Given the description of an element on the screen output the (x, y) to click on. 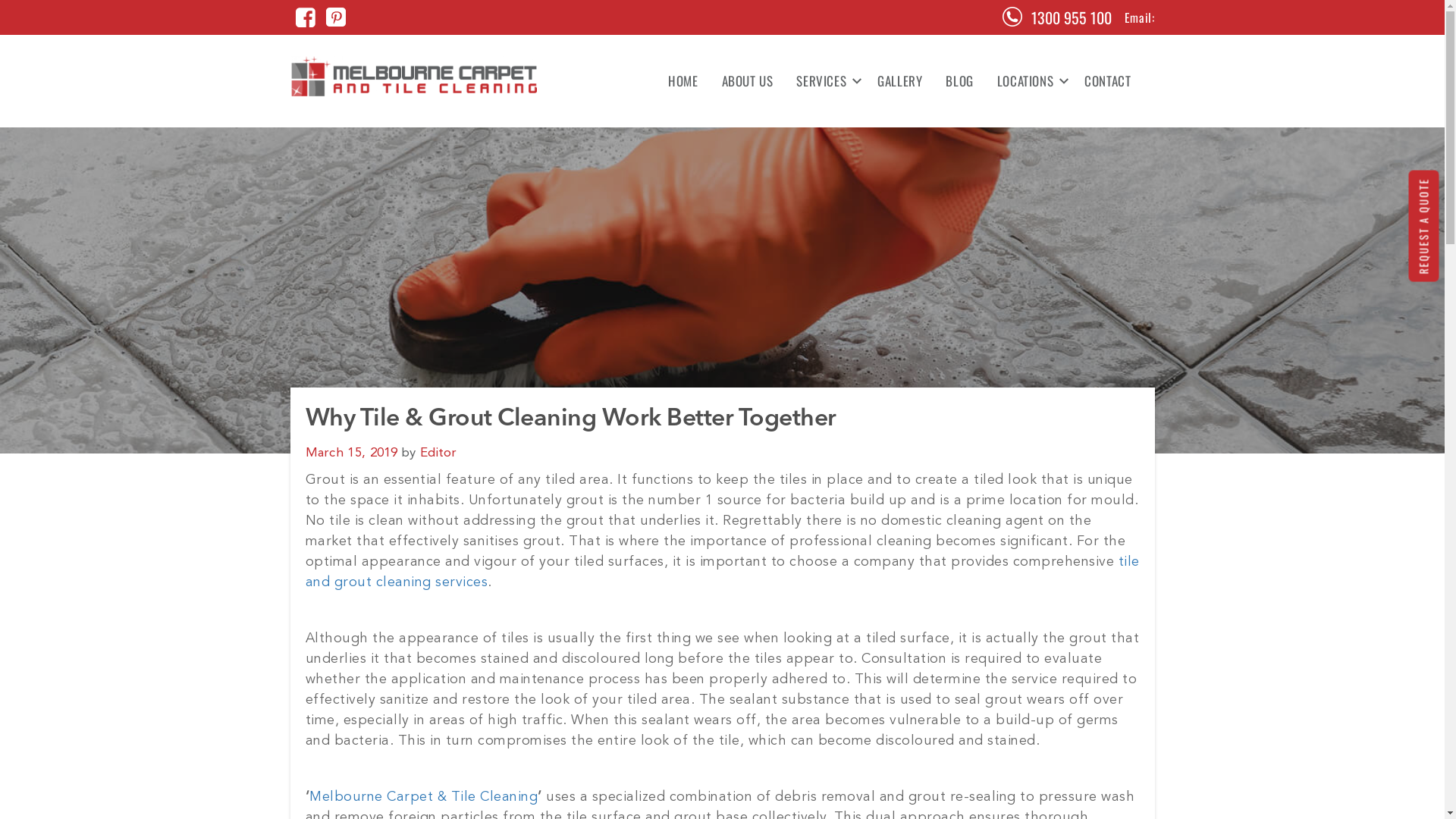
CONTACT Element type: text (1101, 80)
1300 955 100 Element type: text (1071, 17)
Melbourne Carpet And Tile Cleaning Element type: hover (413, 76)
BLOG Element type: text (959, 80)
ABOUT US Element type: text (747, 80)
GALLERY Element type: text (899, 80)
SERVICES Element type: text (824, 80)
Editor Element type: text (438, 452)
Melbourne Carpet & Tile Cleaning Element type: text (423, 796)
LOCATIONS Element type: text (1028, 80)
tile and grout cleaning services Element type: text (721, 572)
March 15, 2019 Element type: text (350, 452)
HOME Element type: text (682, 80)
